Given the description of an element on the screen output the (x, y) to click on. 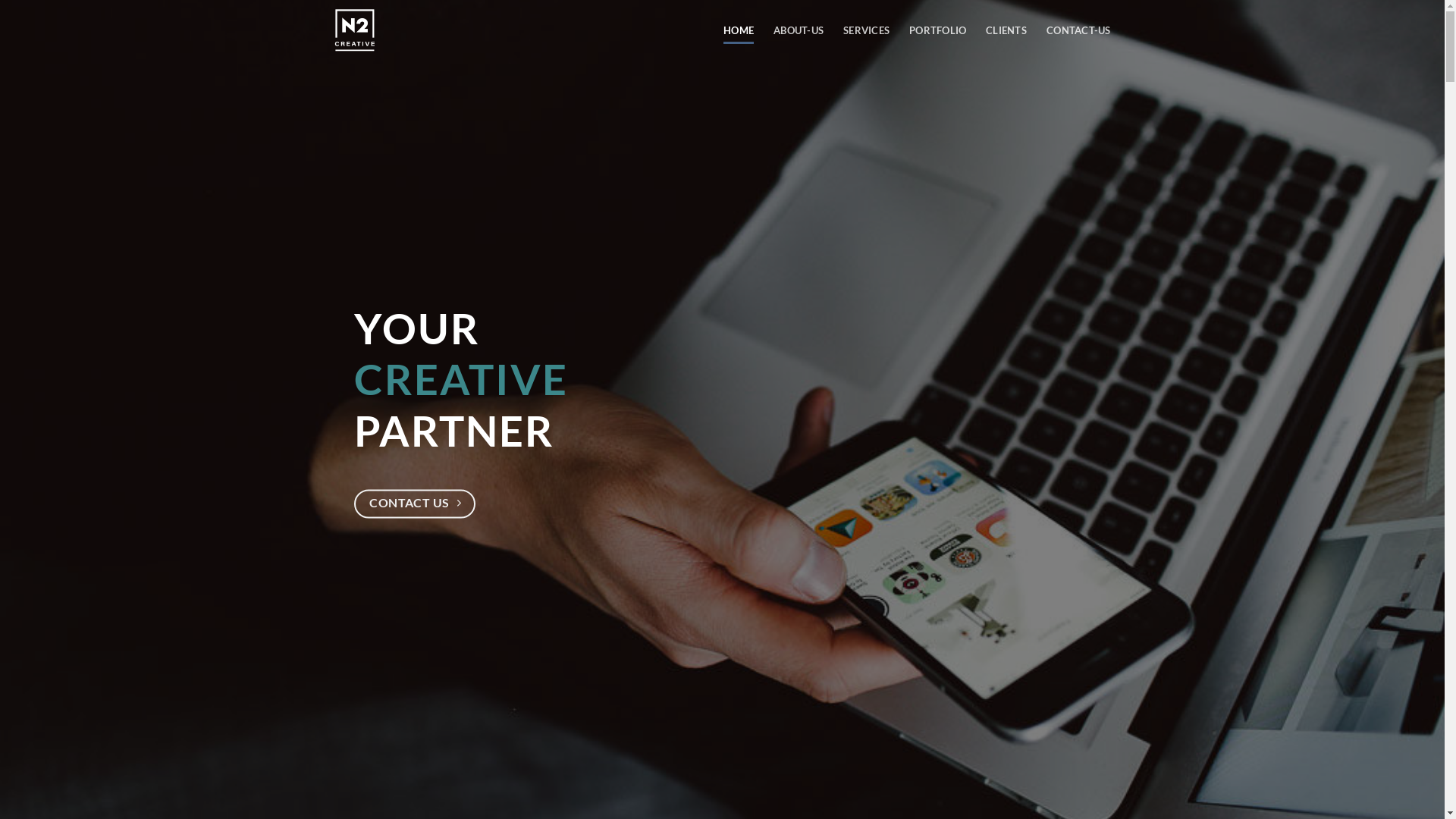
ABOUT-US Element type: text (798, 29)
CONTACT US Element type: text (414, 503)
CLIENTS Element type: text (1005, 29)
SERVICES Element type: text (866, 29)
CONTACT-US Element type: text (1078, 29)
PORTFOLIO Element type: text (937, 29)
Skip to content Element type: text (0, 0)
HOME Element type: text (738, 29)
